Given the description of an element on the screen output the (x, y) to click on. 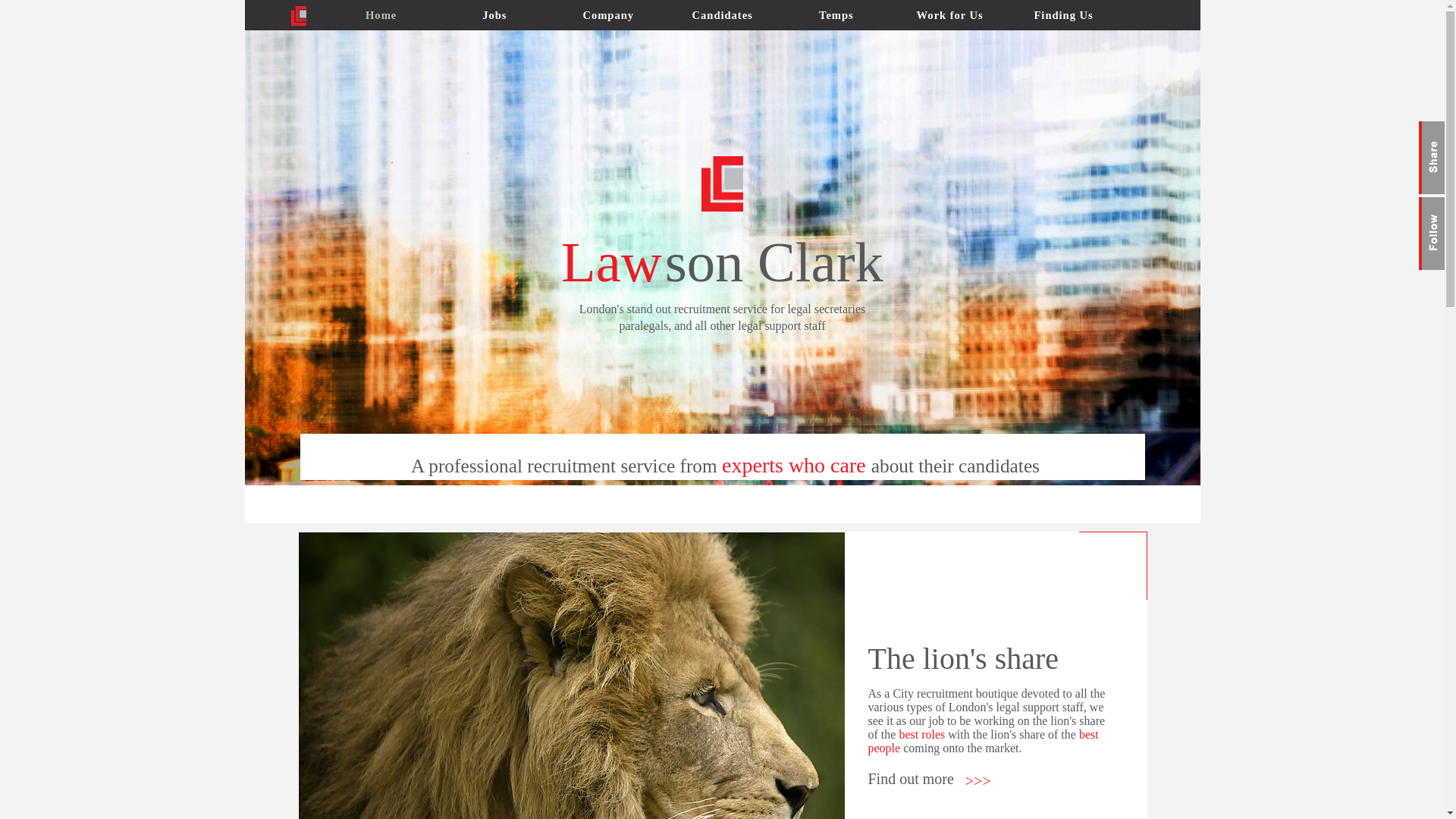
Find out more (910, 778)
Company (607, 15)
Jobs (493, 15)
Temps (835, 15)
Candidates (722, 15)
